Given the description of an element on the screen output the (x, y) to click on. 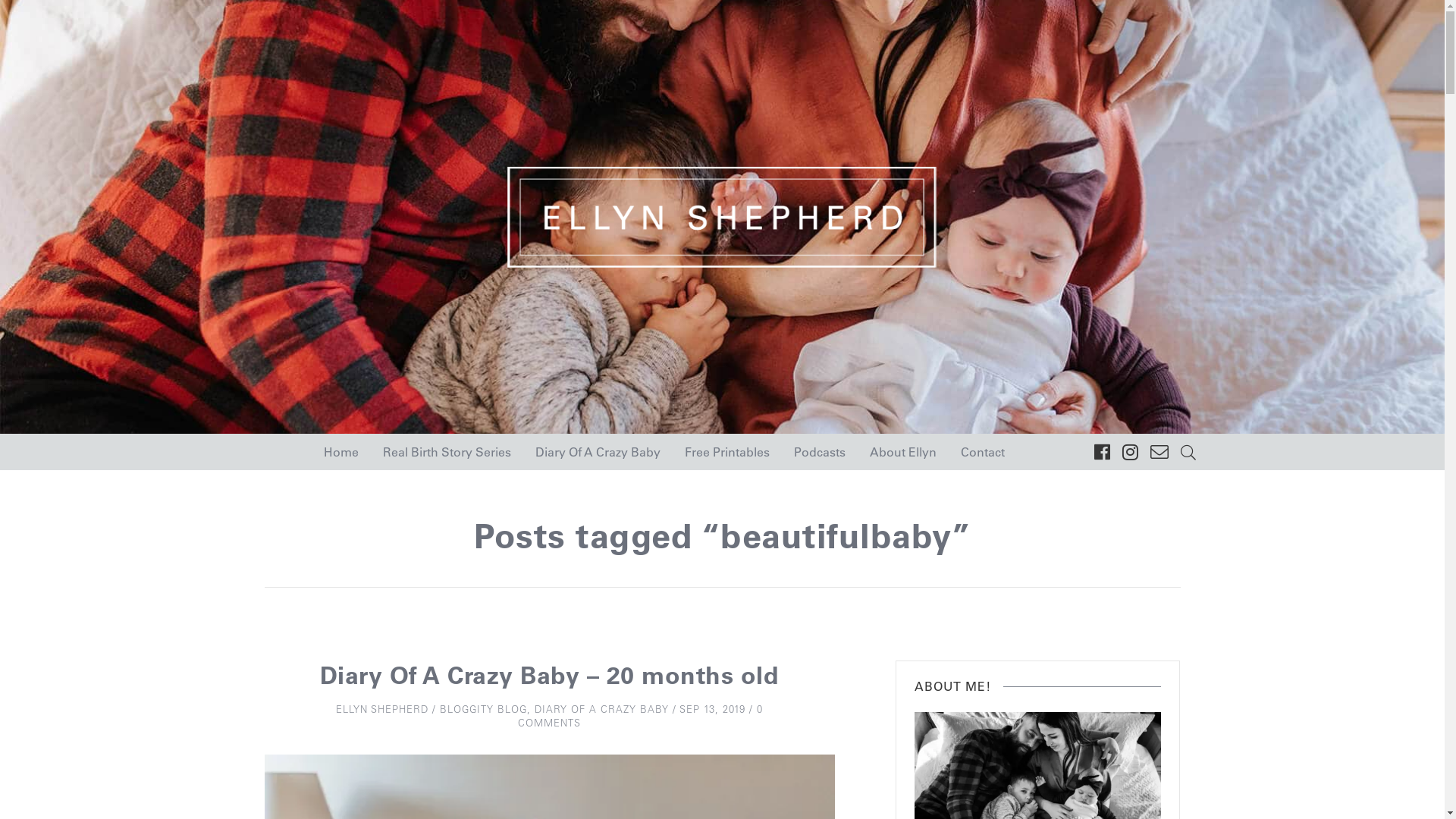
Contact Element type: text (981, 451)
DIARY OF A CRAZY BABY Element type: text (601, 708)
Podcasts Element type: text (818, 451)
Home Element type: text (340, 451)
BLOGGITY BLOG Element type: text (483, 708)
Diary Of A Crazy Baby Element type: text (597, 451)
Real Birth Story Series Element type: text (446, 451)
About Ellyn Element type: text (901, 451)
Free Printables Element type: text (726, 451)
